Given the description of an element on the screen output the (x, y) to click on. 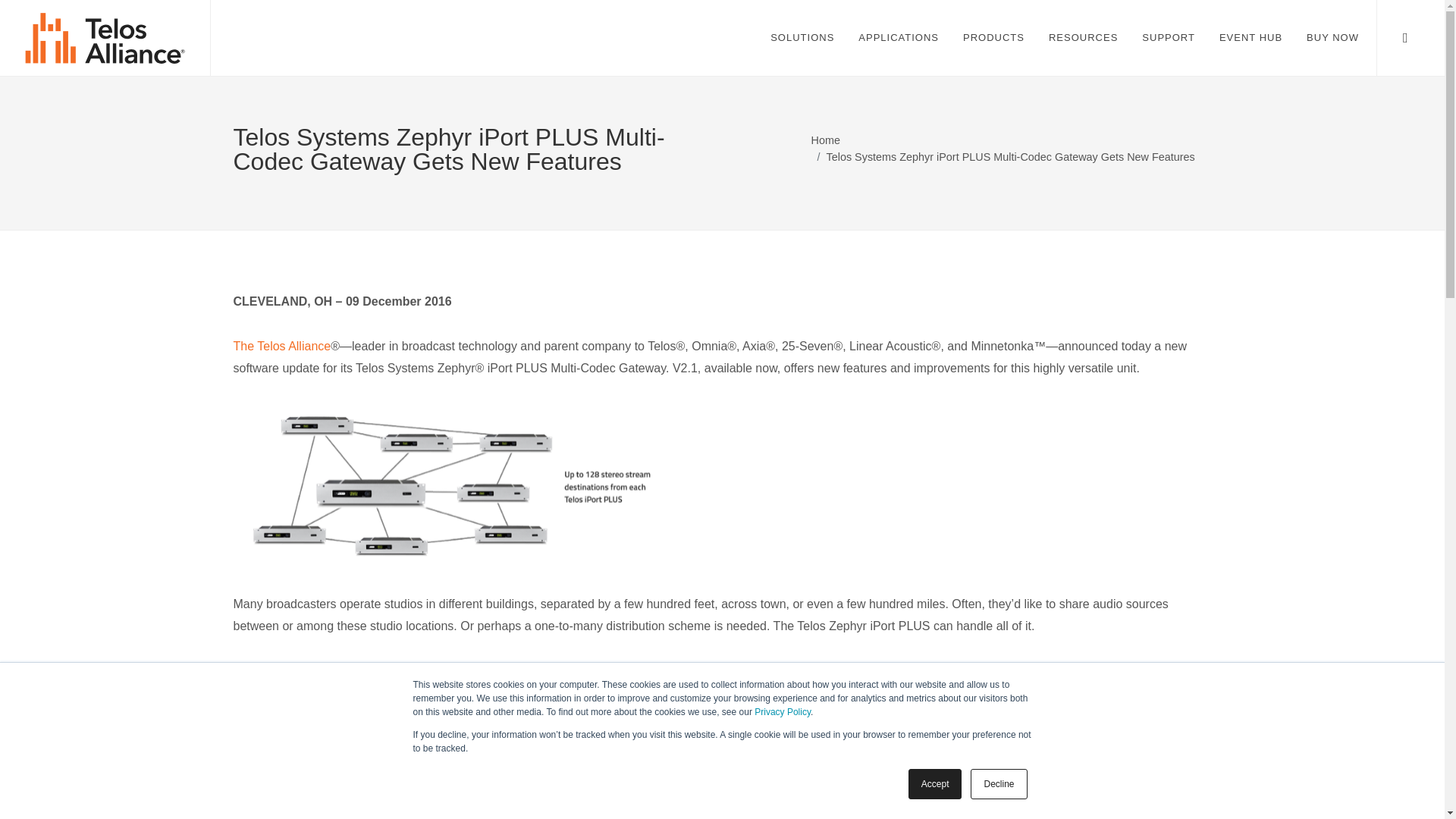
Decline (998, 784)
SOLUTIONS (801, 38)
Privacy Policy (782, 711)
APPLICATIONS (898, 38)
Accept (935, 784)
